Given the description of an element on the screen output the (x, y) to click on. 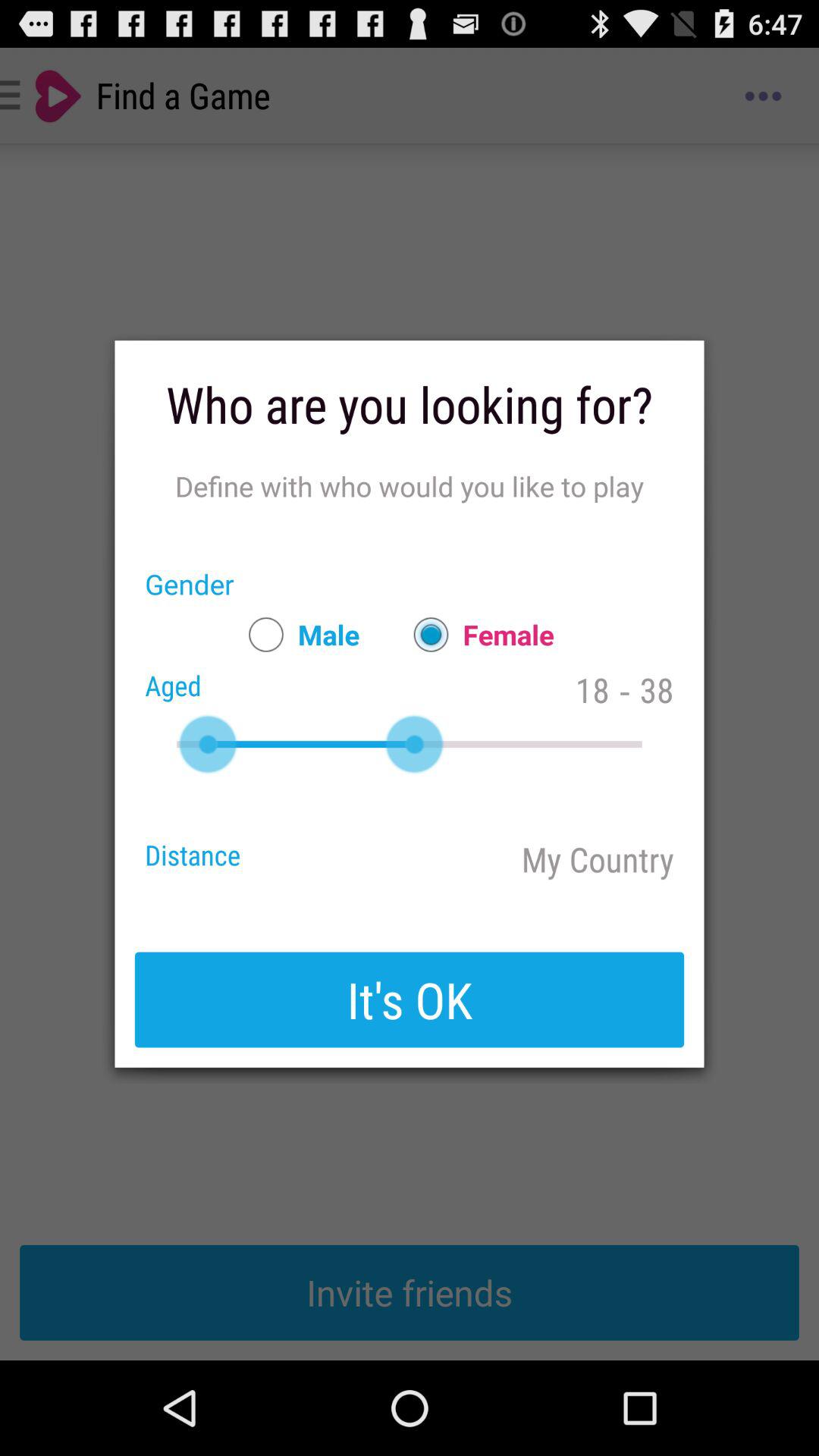
tap item next to male (476, 634)
